Given the description of an element on the screen output the (x, y) to click on. 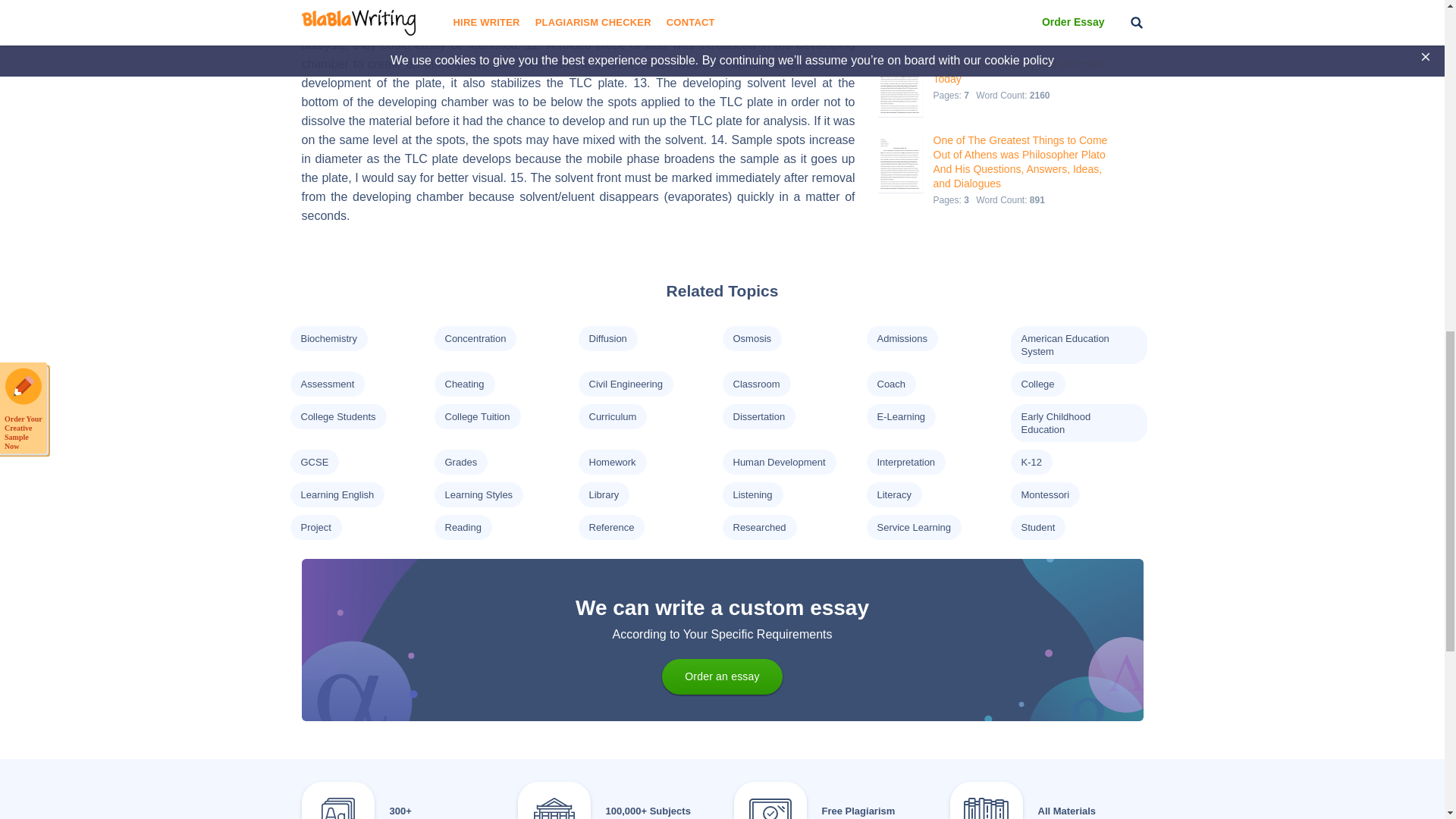
Post-Operative Pain Management in Adults (1025, 5)
American Education System (1064, 344)
Concentration (474, 337)
Assessment (326, 383)
Biochemistry (327, 337)
Diffusion (607, 337)
Cheating (463, 383)
Osmosis (751, 337)
Admissions (901, 337)
Questions on Morality and Struggles Today (1025, 71)
